Given the description of an element on the screen output the (x, y) to click on. 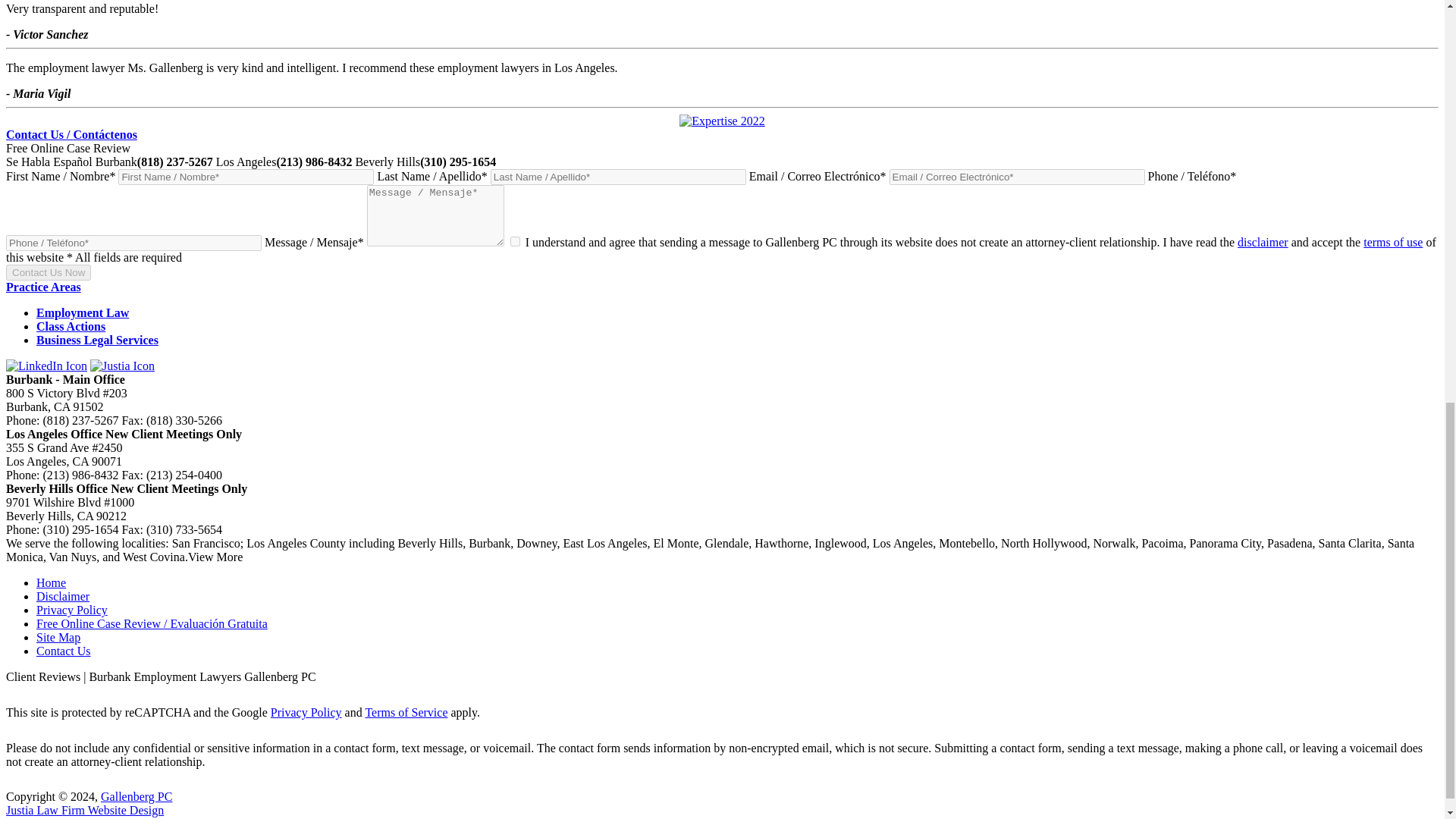
Disclaimer (62, 595)
terms of use (1392, 241)
Practice Areas (43, 286)
disclaimer (1262, 241)
Employment Law (82, 312)
LinkedIn (46, 365)
Contact Us Now (47, 272)
Justia (122, 365)
Site Map (58, 636)
Business Legal Services (97, 339)
